Given the description of an element on the screen output the (x, y) to click on. 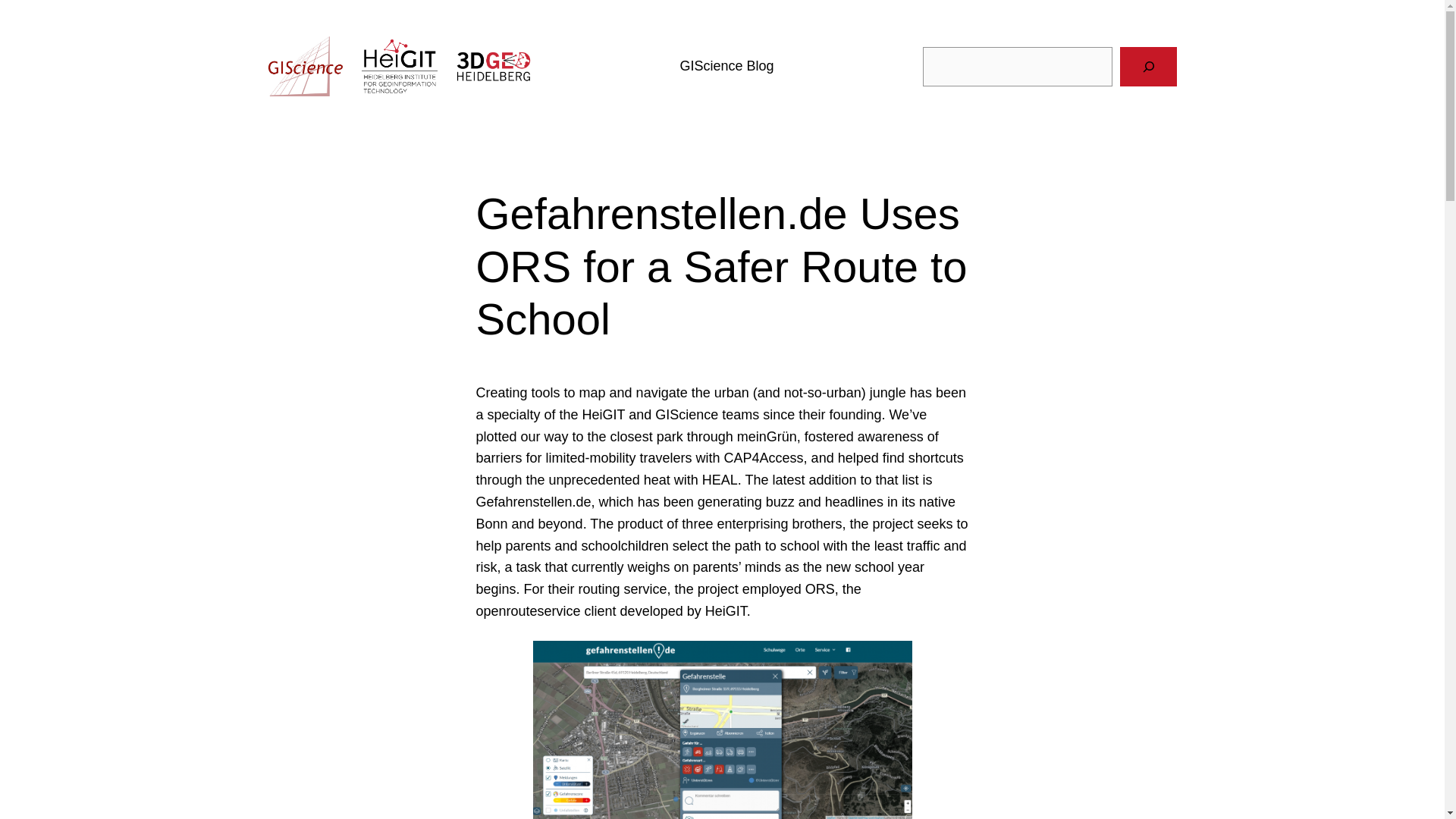
GIScience Blog (726, 65)
